Given the description of an element on the screen output the (x, y) to click on. 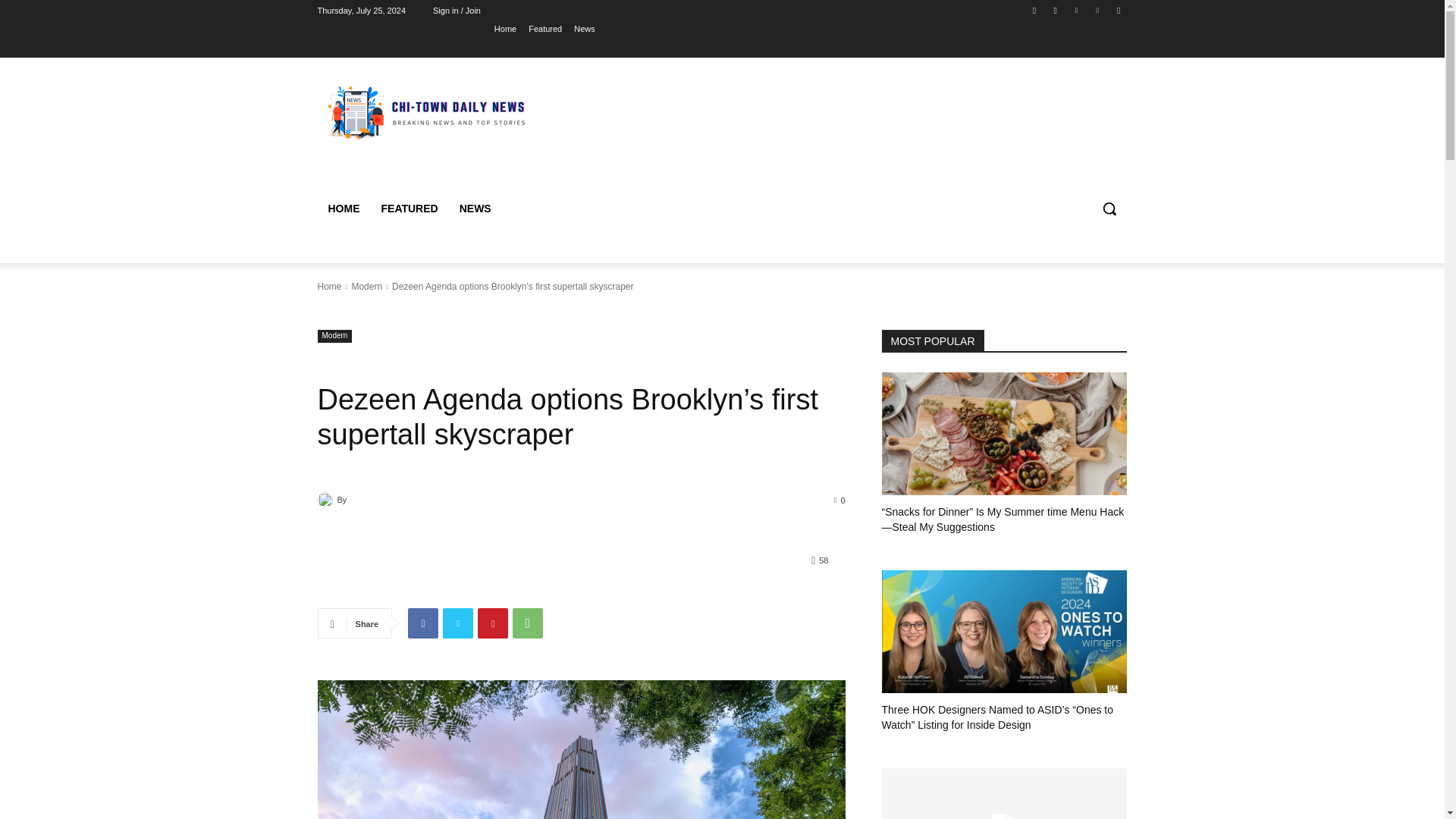
Vimeo (1097, 9)
Youtube (1117, 9)
News (584, 28)
Pinterest (492, 623)
Facebook (422, 623)
WhatsApp (527, 623)
Modern (334, 336)
View all posts in Modern (365, 286)
Twitter (1075, 9)
Home (505, 28)
Instagram (1055, 9)
Home (328, 286)
Twitter (457, 623)
Facebook (1034, 9)
FEATURED (408, 208)
